Given the description of an element on the screen output the (x, y) to click on. 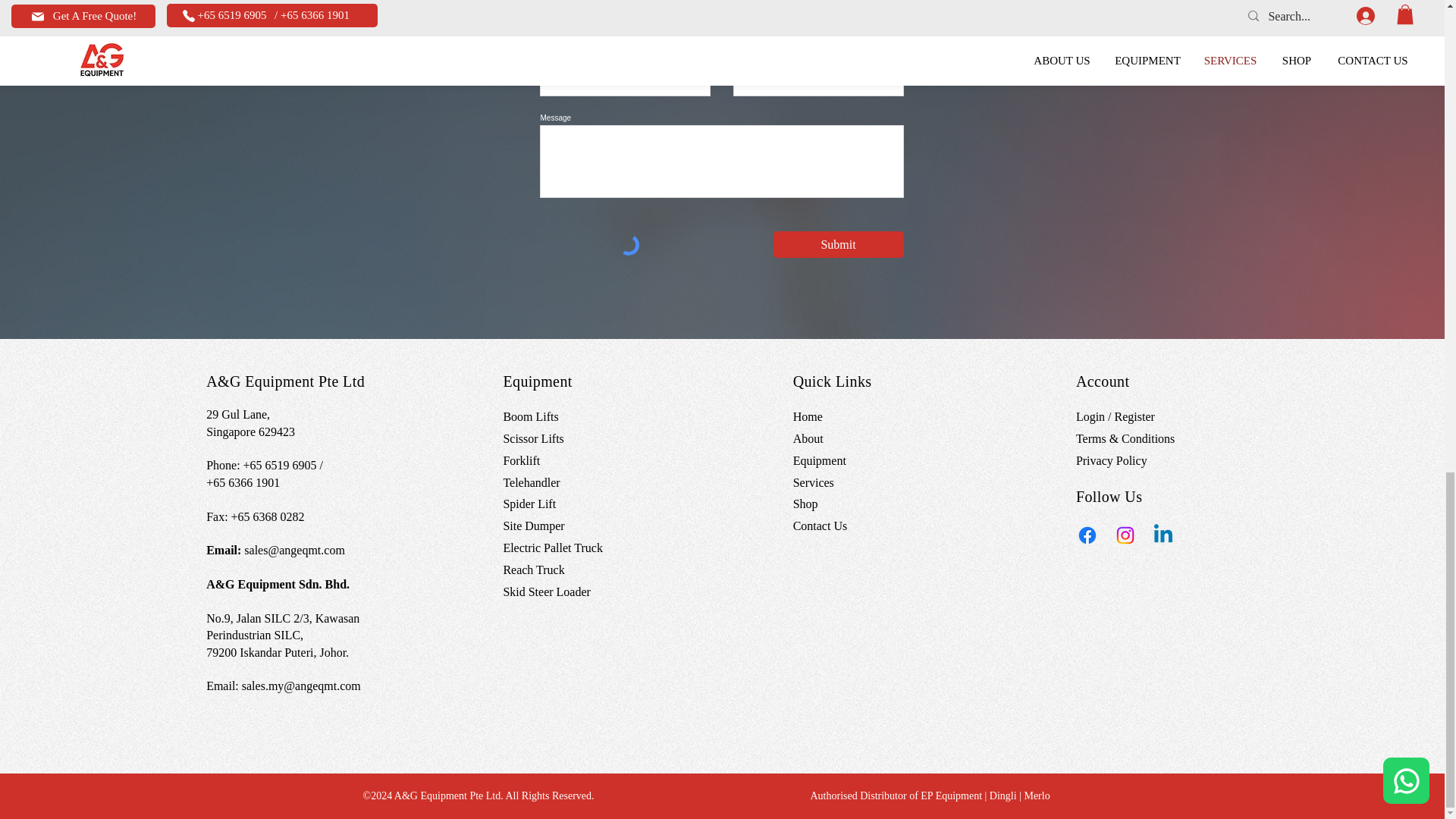
Forklift (521, 460)
Boom Lifts (529, 416)
Scissor Lifts (532, 438)
Submit (838, 243)
Telehandler (530, 481)
Spider Lift (529, 503)
